Given the description of an element on the screen output the (x, y) to click on. 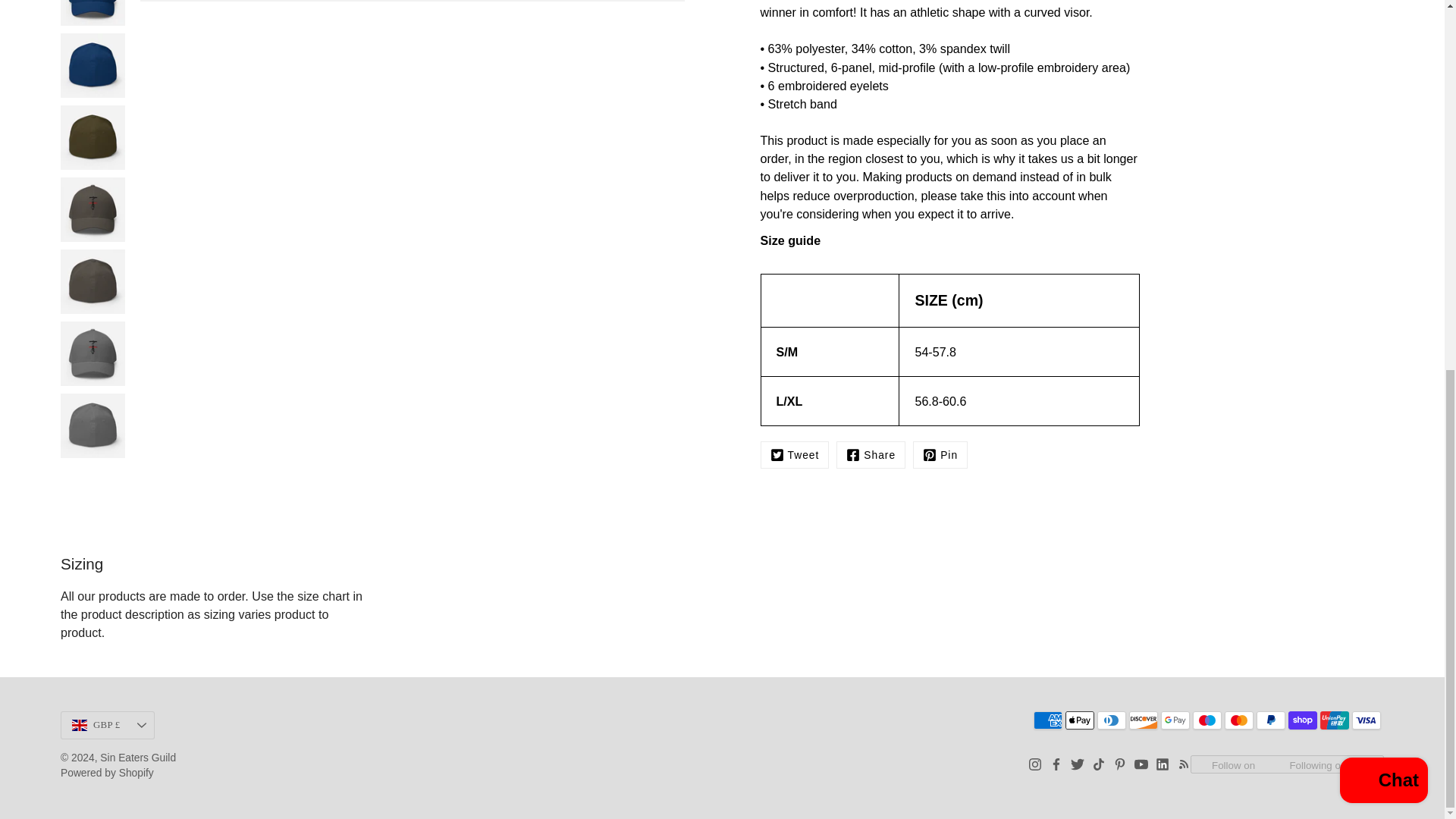
Apple Pay (1079, 720)
Shopify online store chat (1383, 110)
Diners Club (1111, 720)
Facebook (870, 454)
American Express (1047, 720)
Google Pay (1174, 720)
Twitter (794, 454)
Discover (1143, 720)
Maestro (1206, 720)
Pinterest (940, 454)
